Given the description of an element on the screen output the (x, y) to click on. 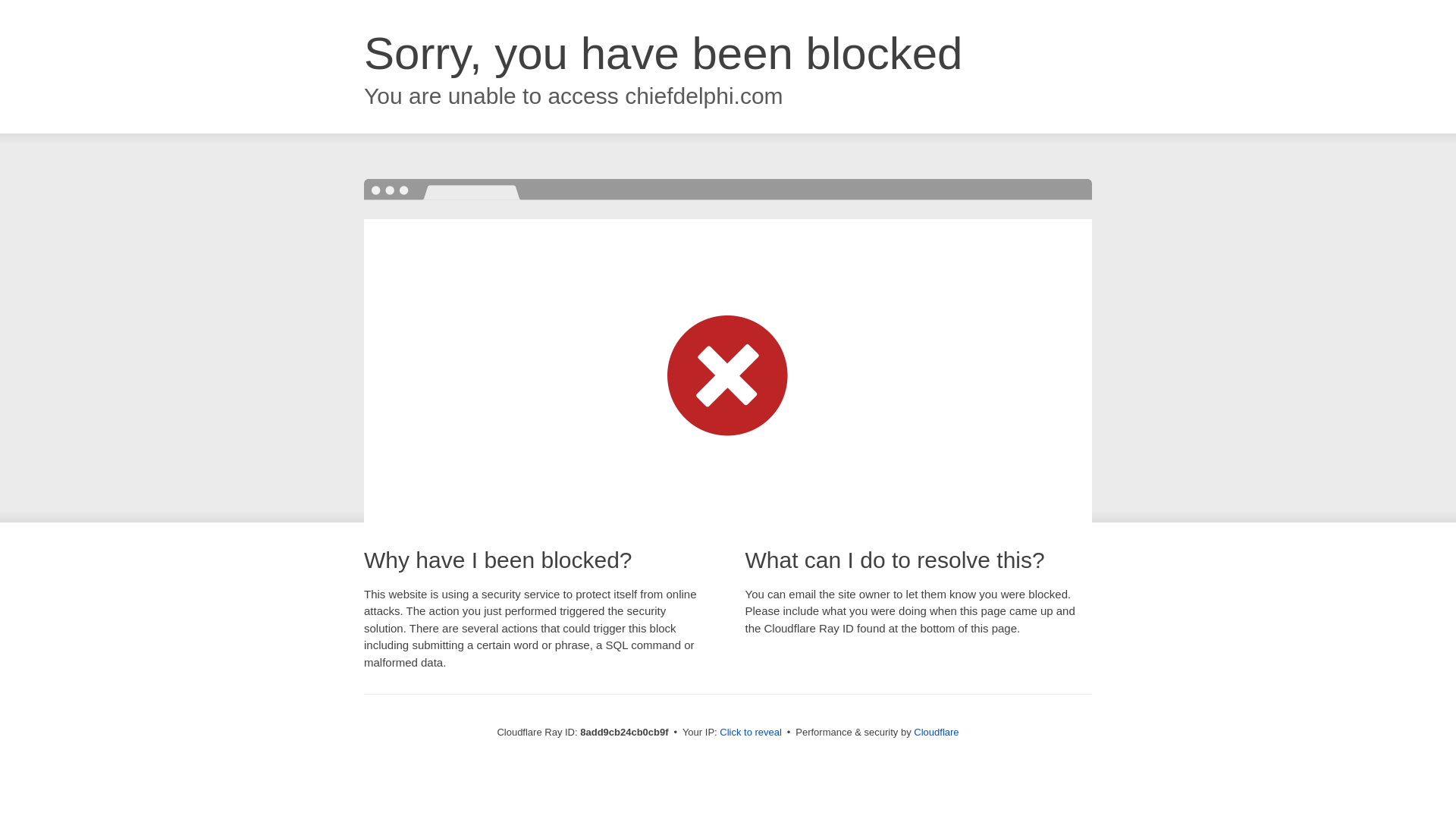
Cloudflare (936, 731)
Click to reveal (750, 732)
